Given the description of an element on the screen output the (x, y) to click on. 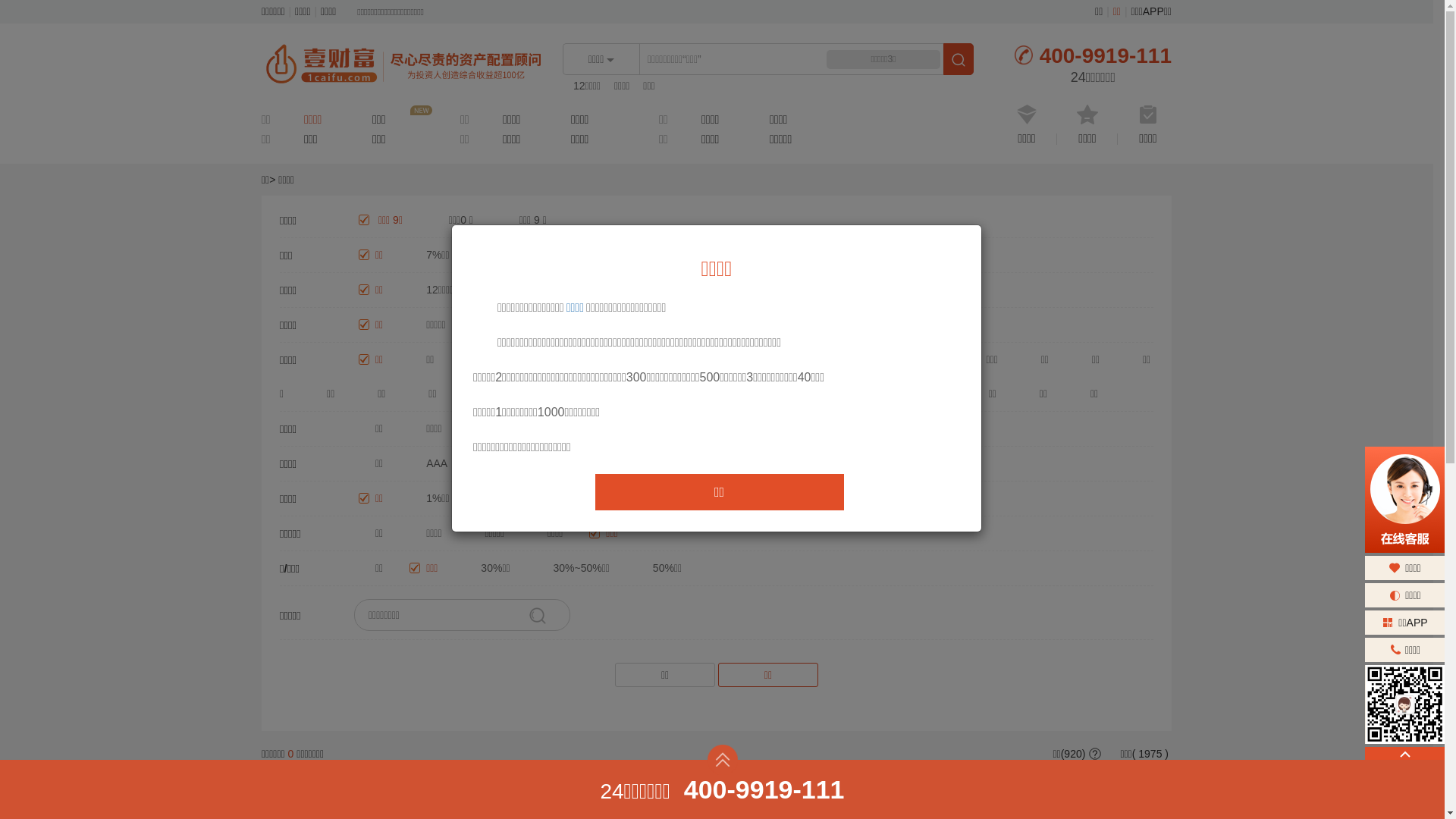
B Element type: text (715, 462)
BB Element type: text (662, 462)
BBB Element type: text (601, 462)
C Element type: text (890, 462)
AAA Element type: text (428, 462)
AA Element type: text (490, 462)
CCC Element type: text (774, 462)
9%-9.9% Element type: text (678, 254)
A Element type: text (544, 462)
7%-7.9% Element type: text (505, 254)
CC Element type: text (836, 462)
8%-8.9% Element type: text (592, 254)
